Given the description of an element on the screen output the (x, y) to click on. 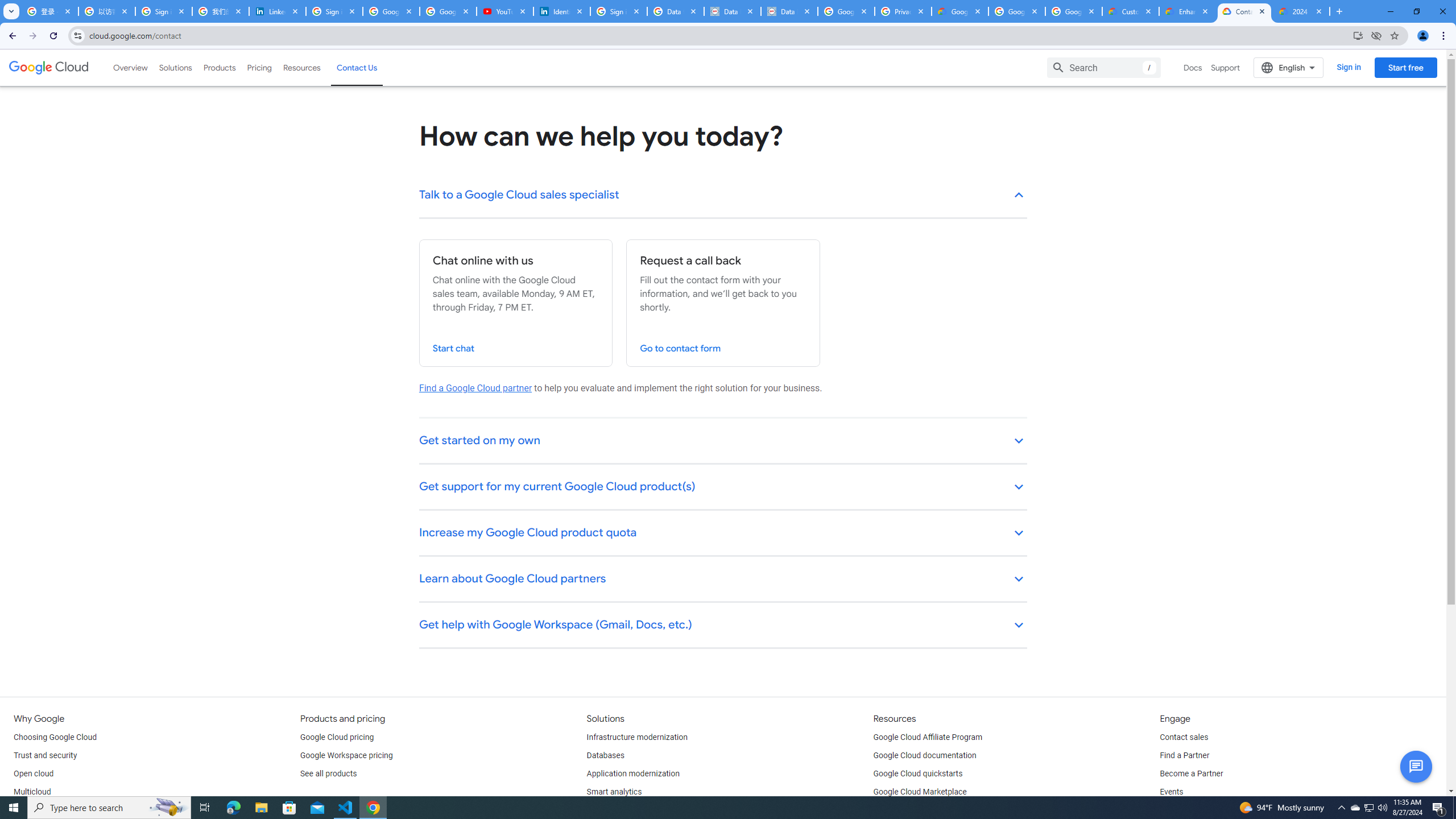
LinkedIn Privacy Policy (277, 11)
Google Cloud Affiliate Program (927, 737)
Google Cloud pricing (336, 737)
Smart analytics (614, 791)
Google Cloud quickstarts (917, 773)
Get started on my own keyboard_arrow_down (723, 441)
Install Google Cloud (1358, 35)
Google Workspace pricing (346, 755)
Databases (605, 755)
